Given the description of an element on the screen output the (x, y) to click on. 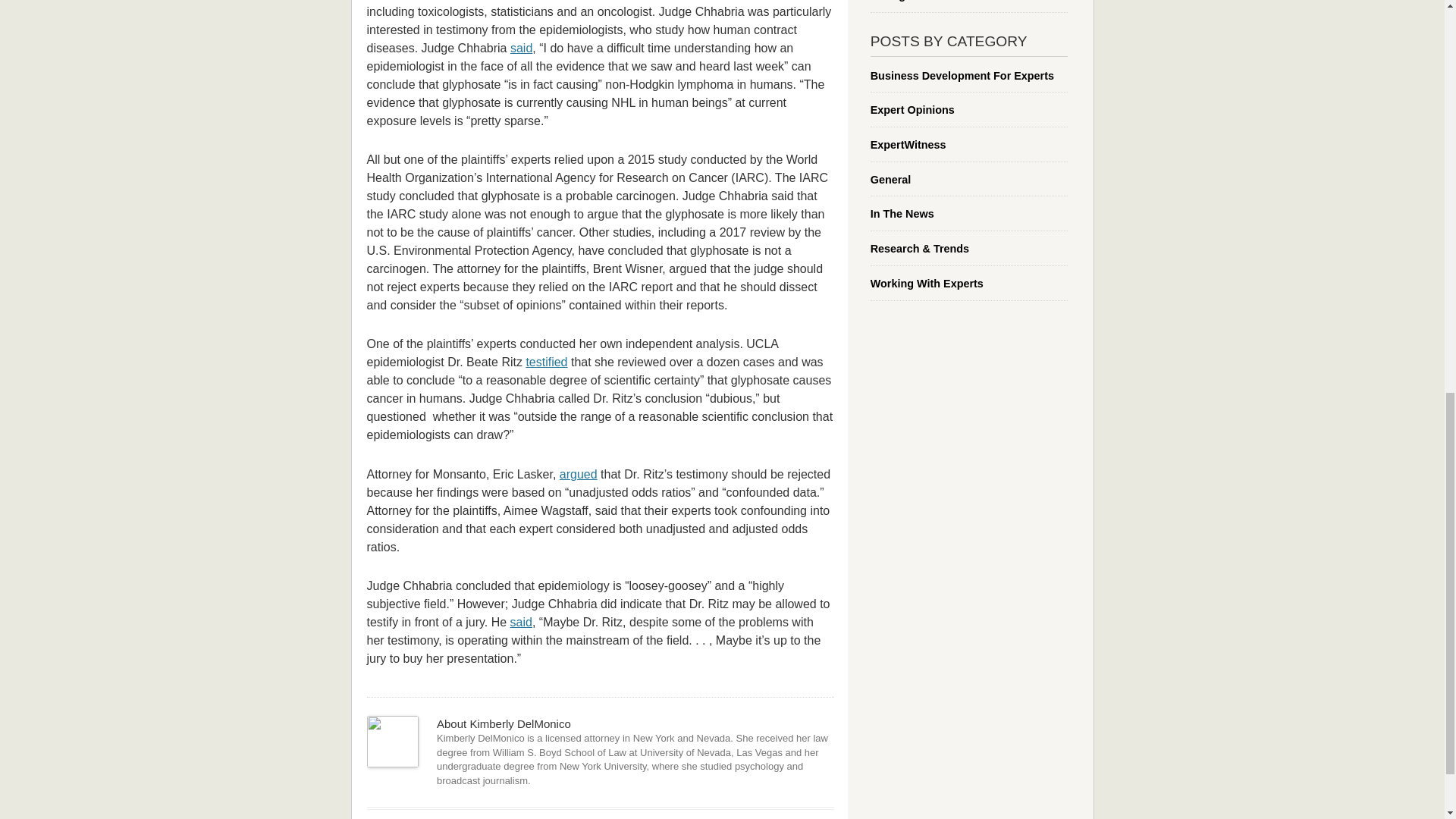
said (521, 47)
said (521, 621)
argued (577, 473)
testified (546, 361)
